Given the description of an element on the screen output the (x, y) to click on. 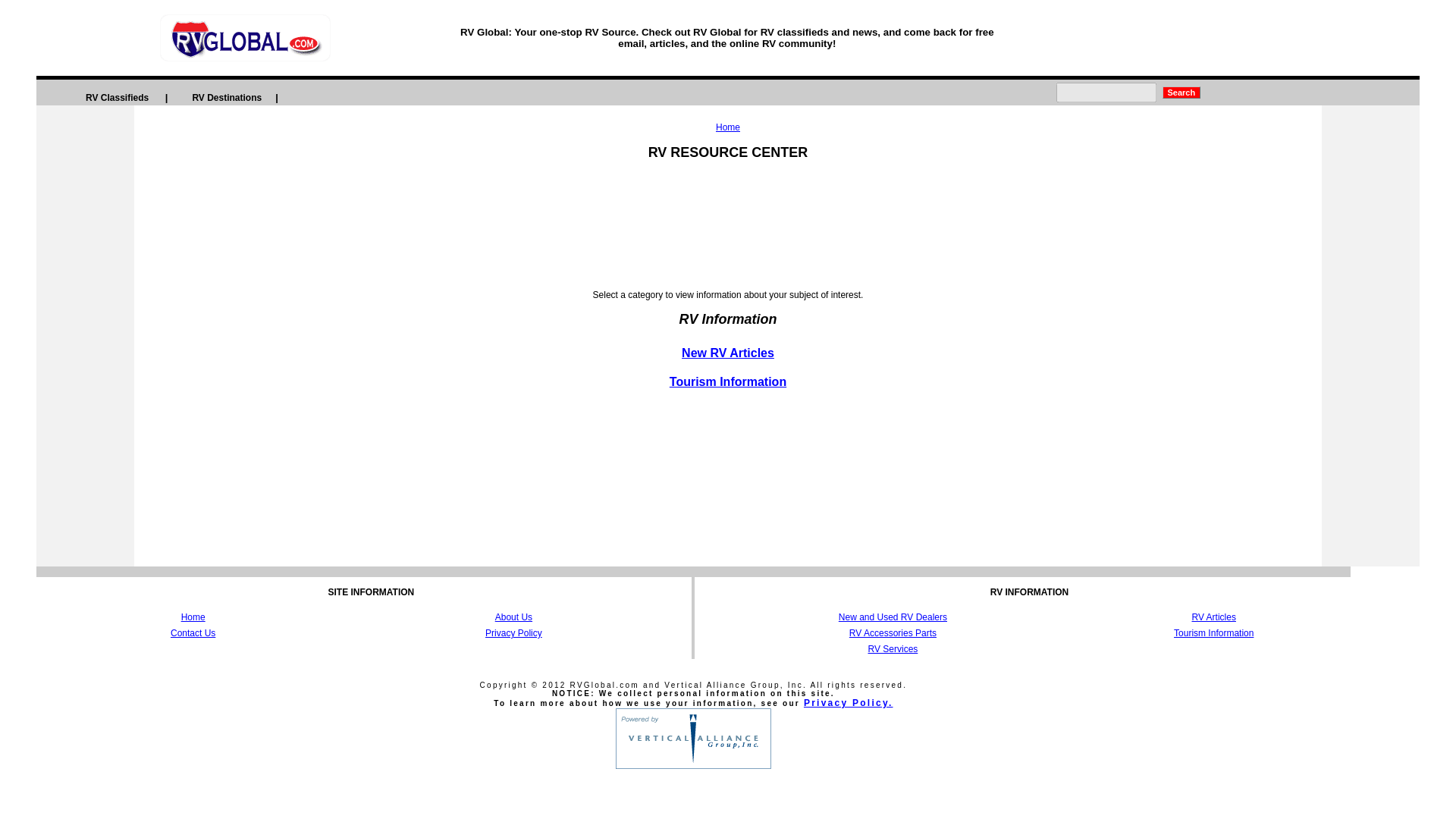
Tourism Information (1213, 633)
Search (1181, 92)
RV Classifieds (116, 97)
RV Accessories Parts (892, 633)
New and Used RV Dealers (892, 616)
New RV Articles (727, 352)
Privacy Policy. (848, 702)
RV Articles (1212, 616)
Home (192, 616)
Privacy Policy (512, 633)
